Given the description of an element on the screen output the (x, y) to click on. 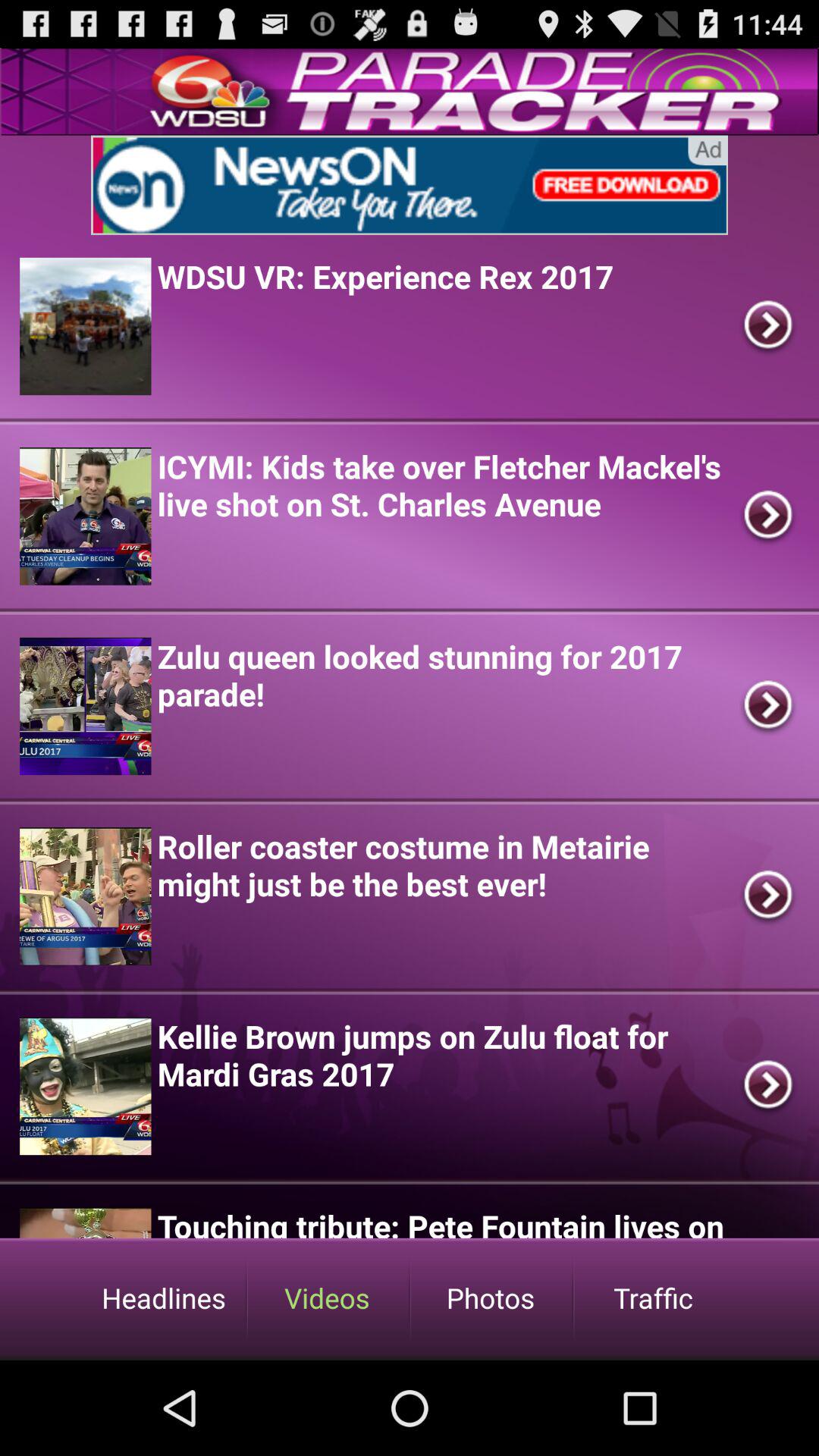
advertisement (409, 184)
